Given the description of an element on the screen output the (x, y) to click on. 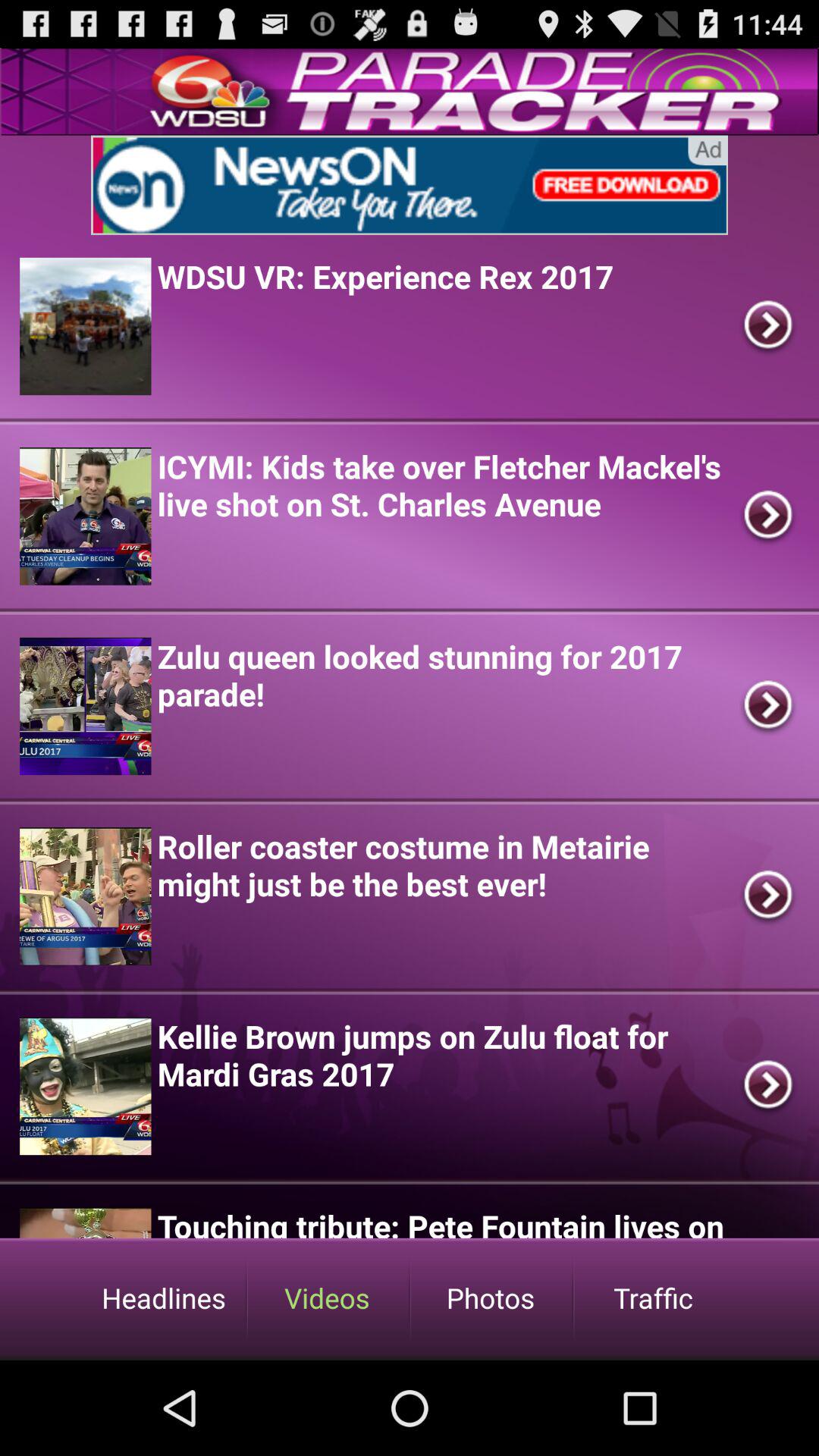
advertisement (409, 184)
